Given the description of an element on the screen output the (x, y) to click on. 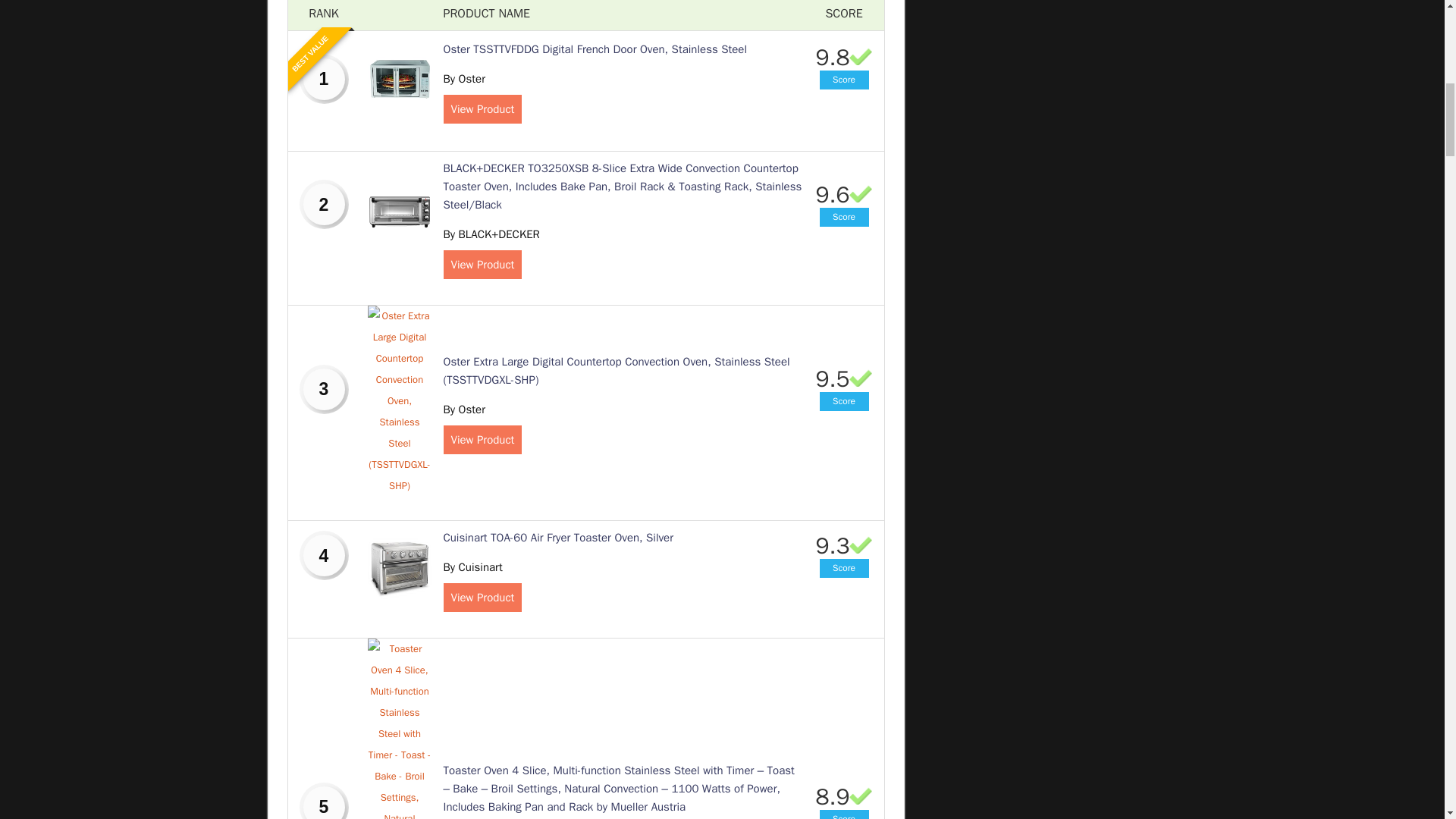
View Product (481, 264)
View Product (481, 109)
View Product (481, 597)
View Product (481, 439)
By Oster (463, 78)
By Oster (463, 409)
By Cuisinart (472, 567)
Oster TSSTTVFDDG Digital French Door Oven, Stainless Steel (594, 49)
Cuisinart TOA-60 Air Fryer Toaster Oven, Silver (557, 537)
